Given the description of an element on the screen output the (x, y) to click on. 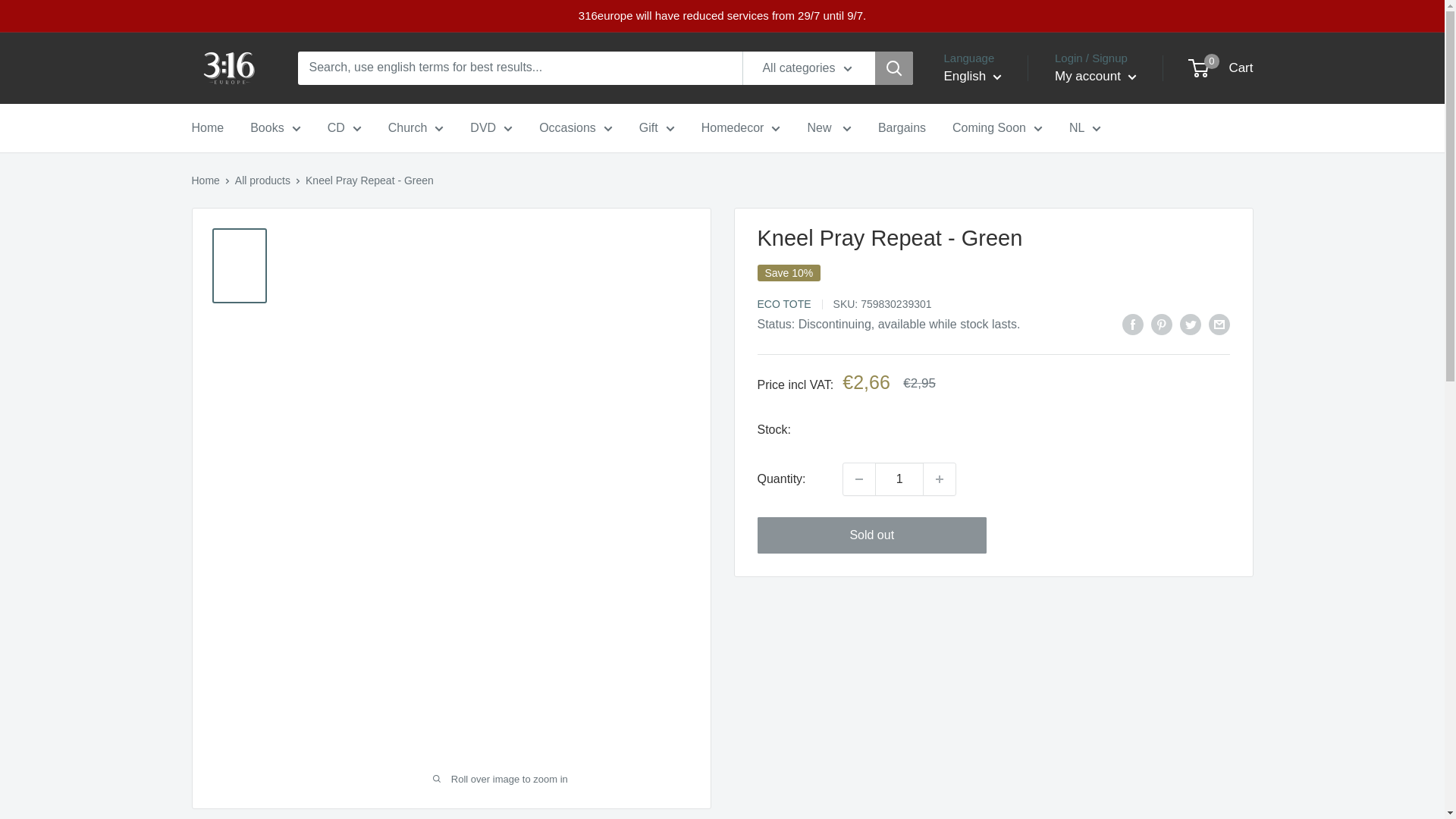
Increase quantity by 1 (939, 479)
1 (899, 479)
Decrease quantity by 1 (859, 479)
